Given the description of an element on the screen output the (x, y) to click on. 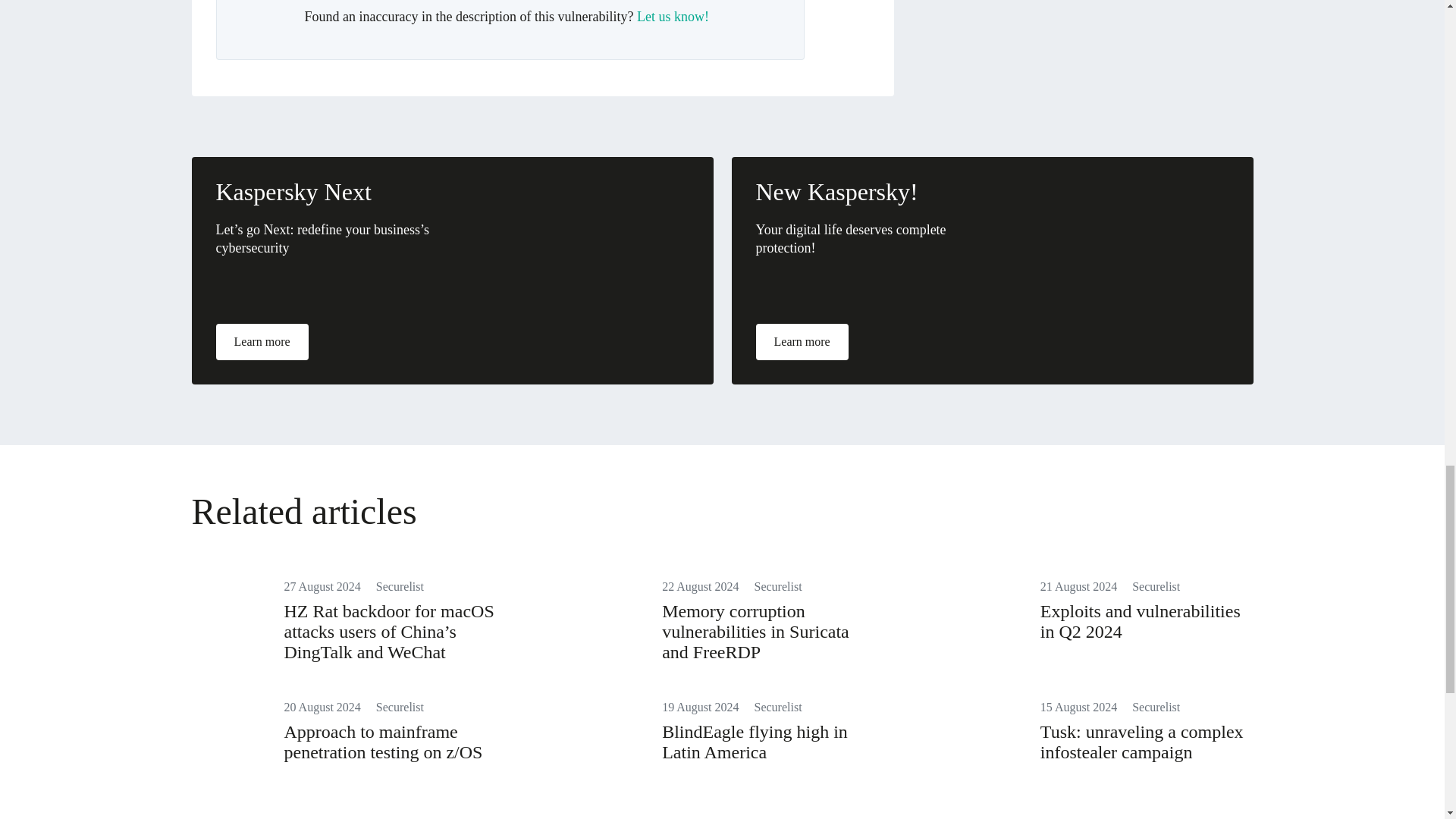
BlindEagle flying high in Latin America (754, 741)
Tusk: unraveling a complex infostealer campaign (1142, 741)
Learn more (261, 341)
Exploits and vulnerabilities in Q2 2024 (1140, 621)
Learn more (801, 341)
Memory corruption vulnerabilities in Suricata and FreeRDP (755, 631)
